Given the description of an element on the screen output the (x, y) to click on. 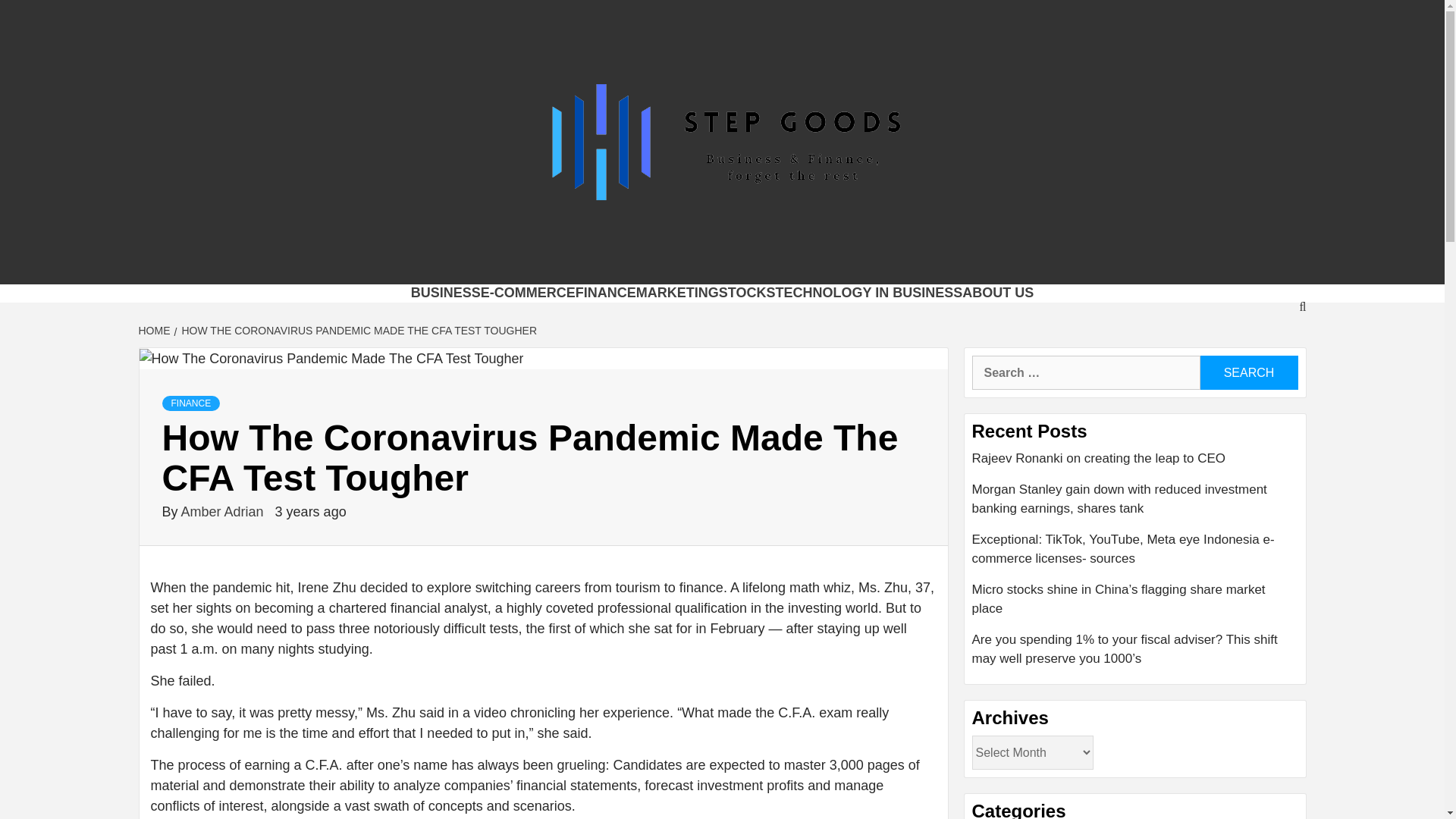
Rajeev Ronanki on creating the leap to CEO (1135, 463)
FINANCE (605, 292)
STEP GOODS (391, 264)
TECHNOLOGY IN BUSINESS (868, 292)
MARKETING (677, 292)
FINANCE (191, 403)
Search (1248, 372)
STOCKS (747, 292)
HOME (155, 330)
ABOUT US (997, 292)
Amber Adrian (223, 511)
E-COMMERCE (527, 292)
Search (1248, 372)
How The Coronavirus Pandemic Made The CFA Test Tougher (331, 358)
